Given the description of an element on the screen output the (x, y) to click on. 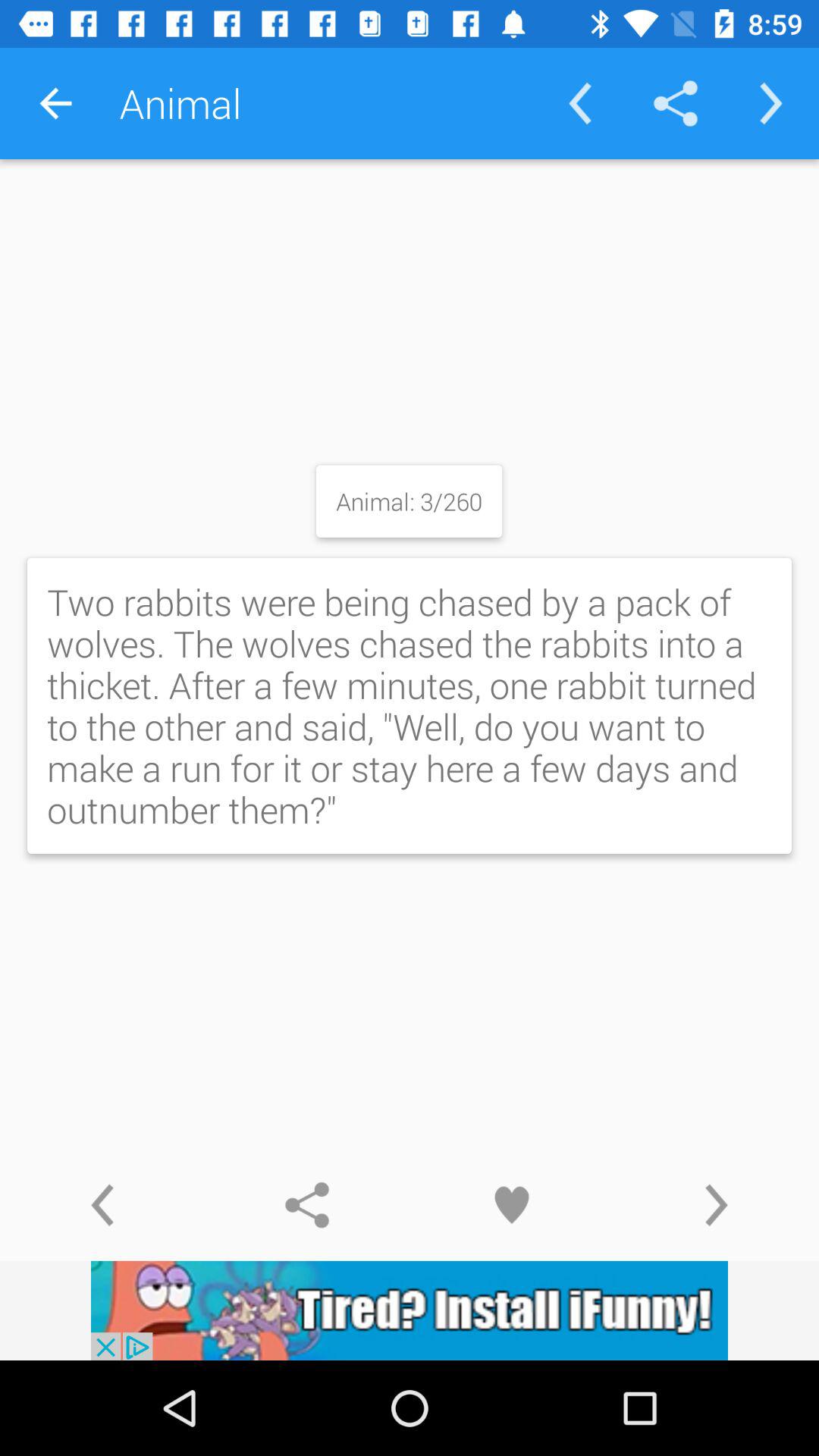
go back (102, 1205)
